Given the description of an element on the screen output the (x, y) to click on. 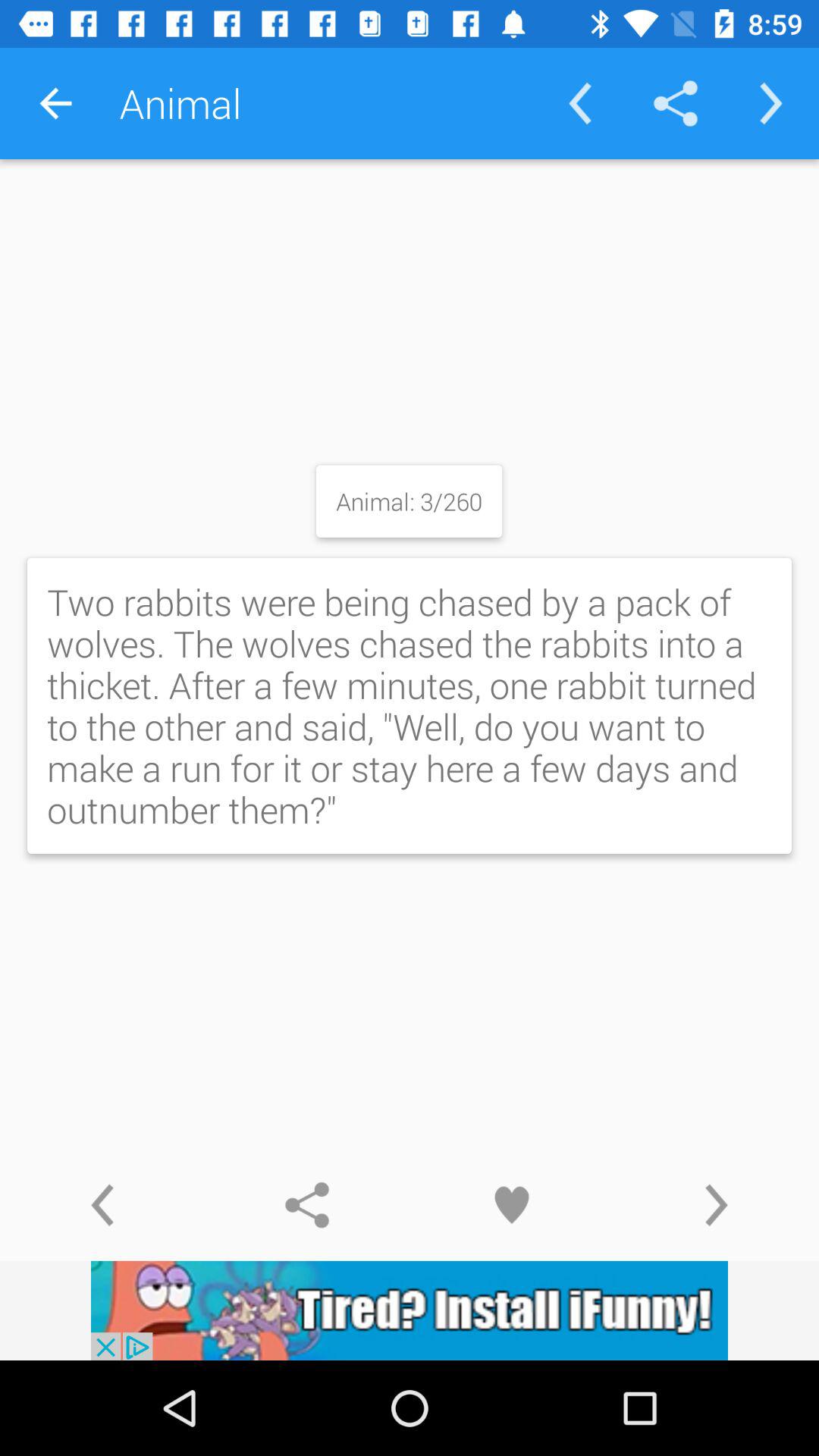
go back (102, 1205)
